Given the description of an element on the screen output the (x, y) to click on. 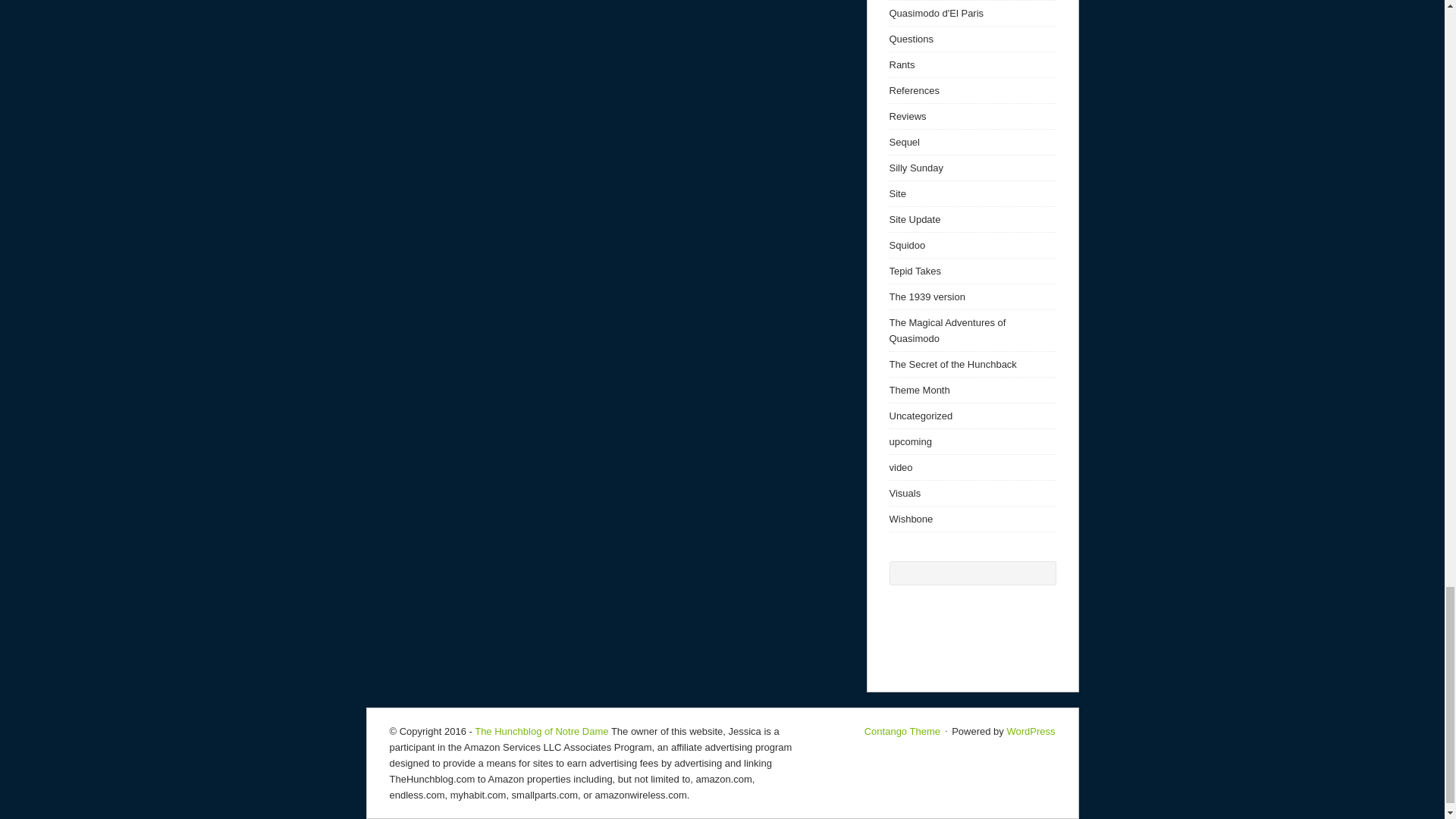
Contango Theme (902, 731)
WordPress (1030, 731)
